Given the description of an element on the screen output the (x, y) to click on. 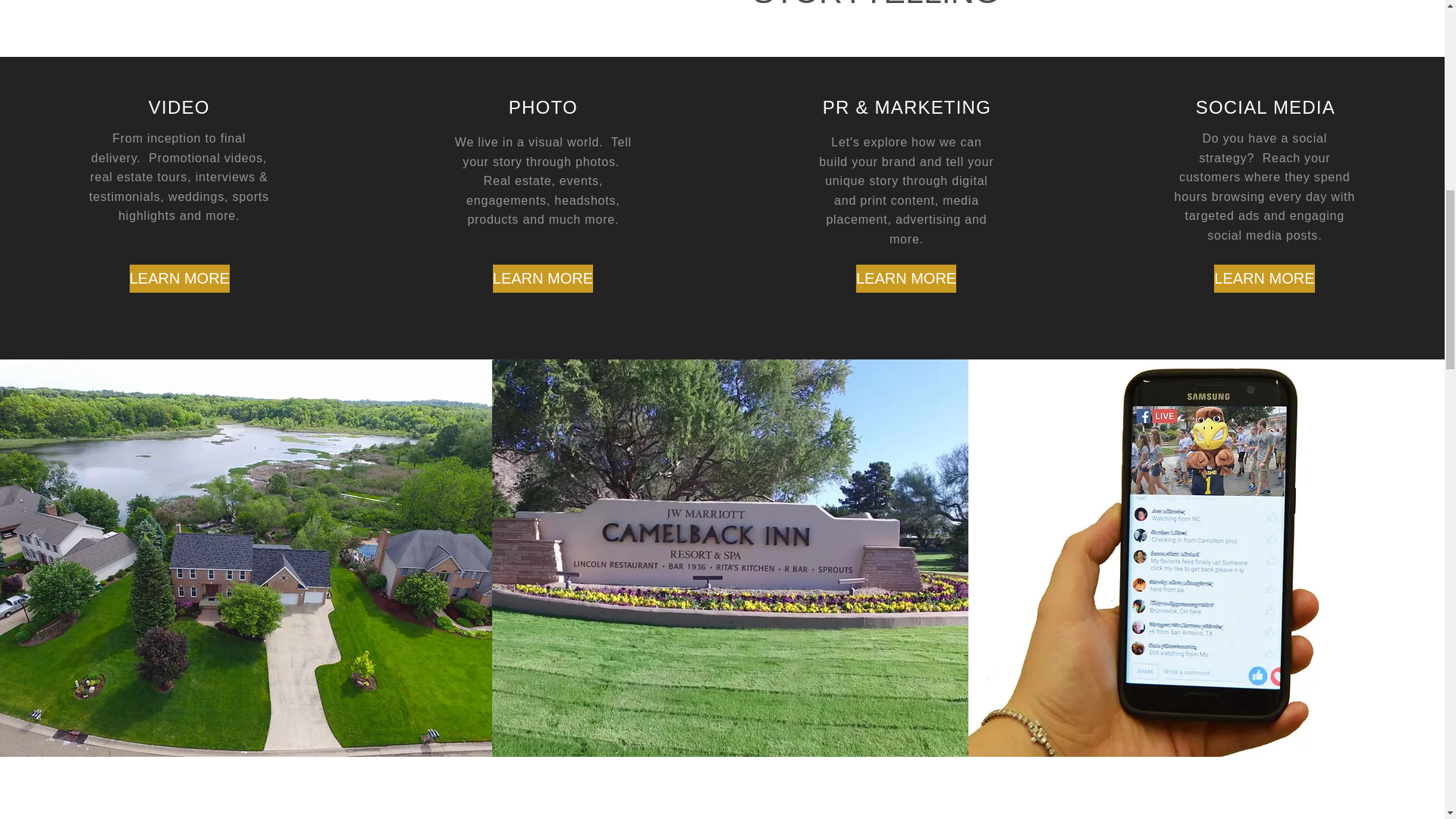
DIGITAL STORYTELLING (875, 4)
LEARN MORE (542, 278)
LEARN MORE (906, 278)
LEARN MORE (1264, 278)
LEARN MORE (179, 278)
